Given the description of an element on the screen output the (x, y) to click on. 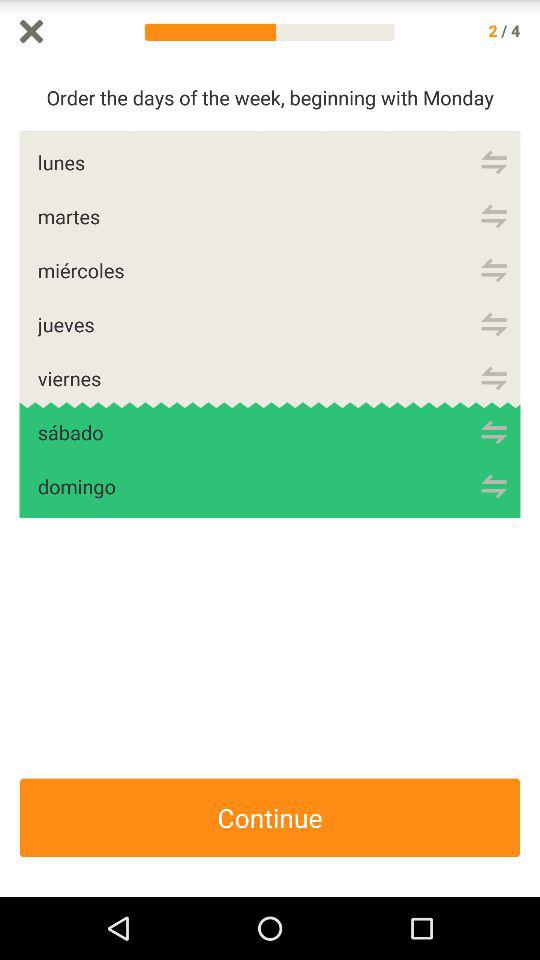
launch the continue icon (269, 817)
